Given the description of an element on the screen output the (x, y) to click on. 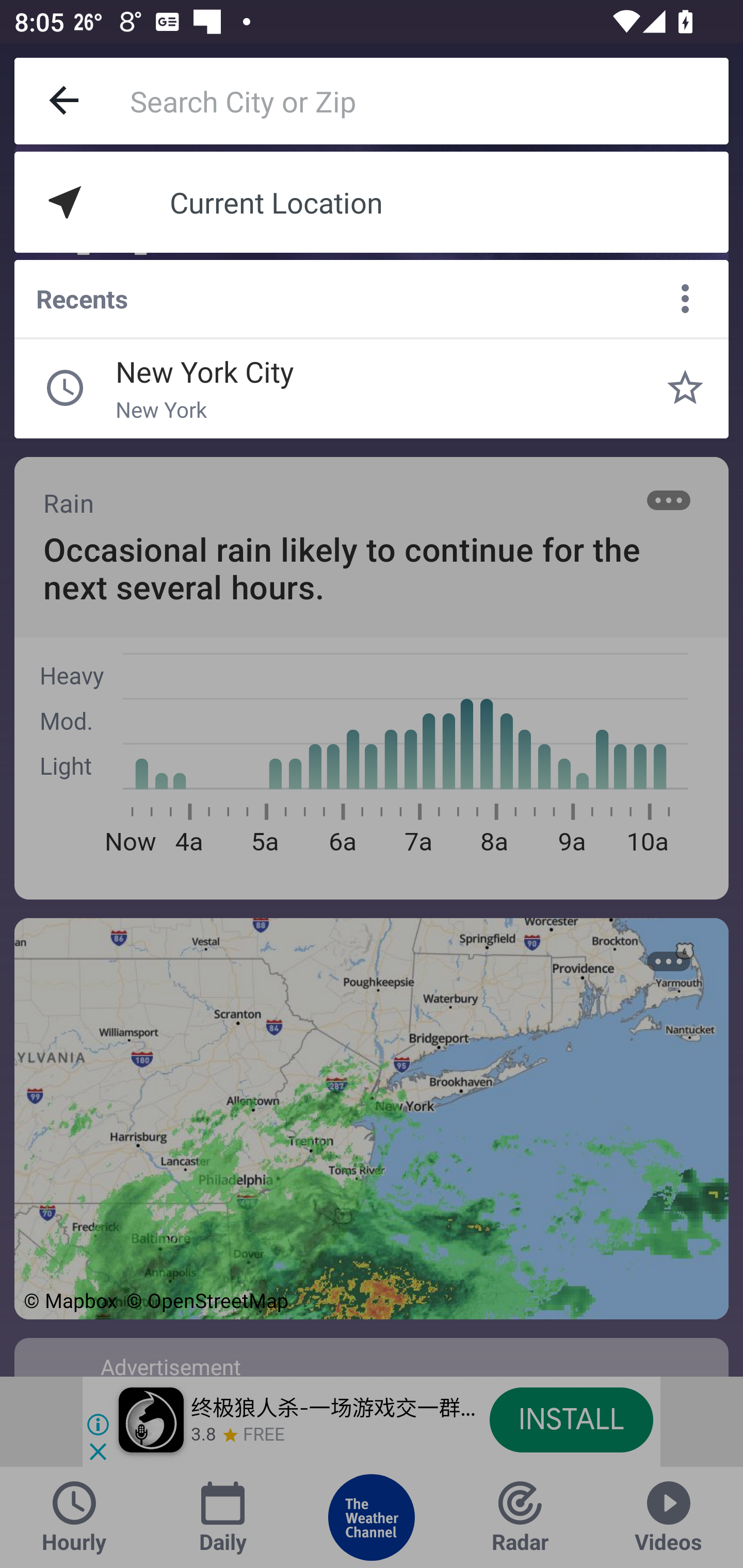
Back (64, 101)
Search City or Zip (429, 100)
Current Location (371, 202)
more (685, 298)
New York City New York Add to favorites (684, 387)
